Given the description of an element on the screen output the (x, y) to click on. 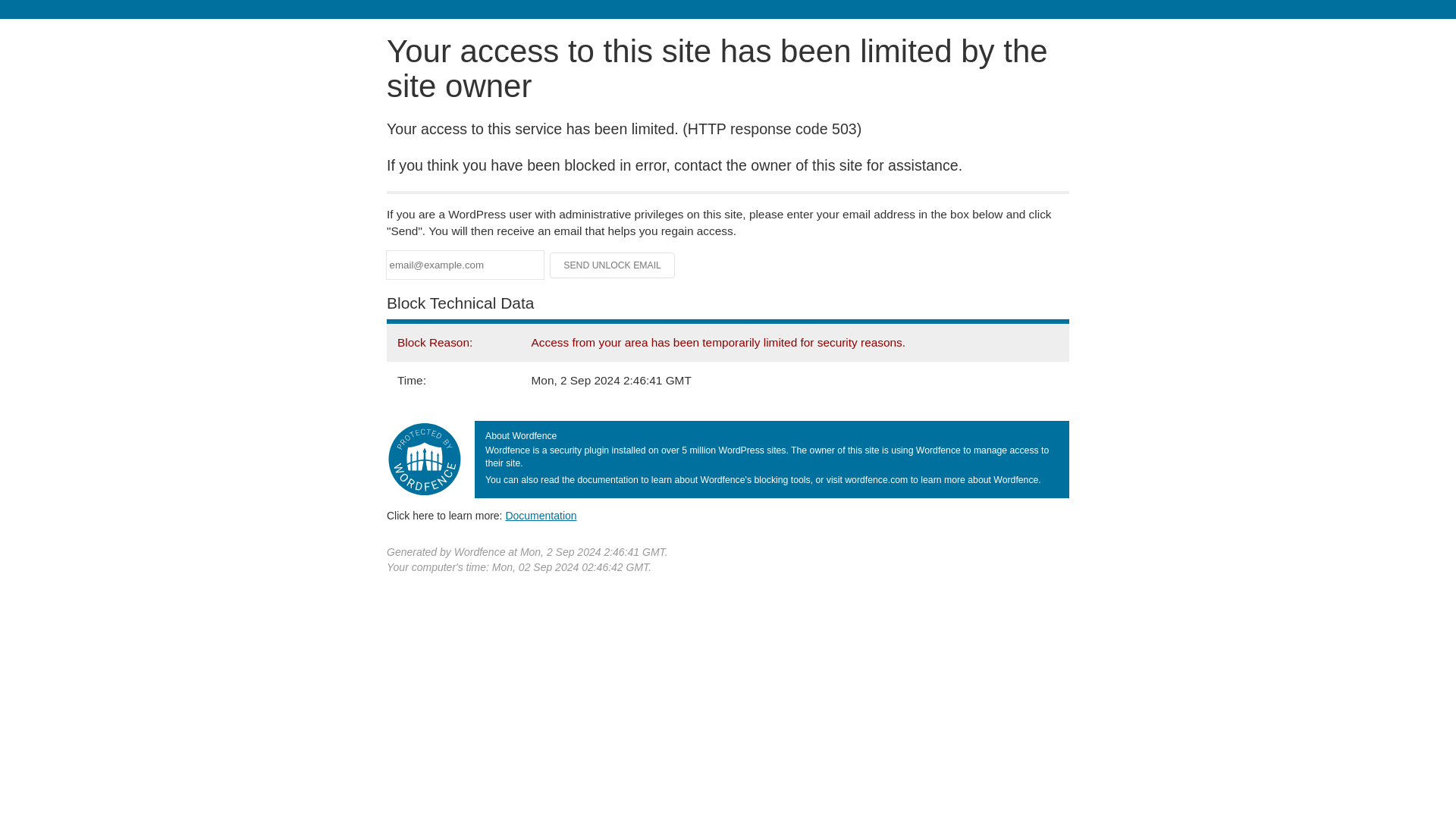
Send Unlock Email (612, 265)
Documentation (540, 515)
Send Unlock Email (612, 265)
